Given the description of an element on the screen output the (x, y) to click on. 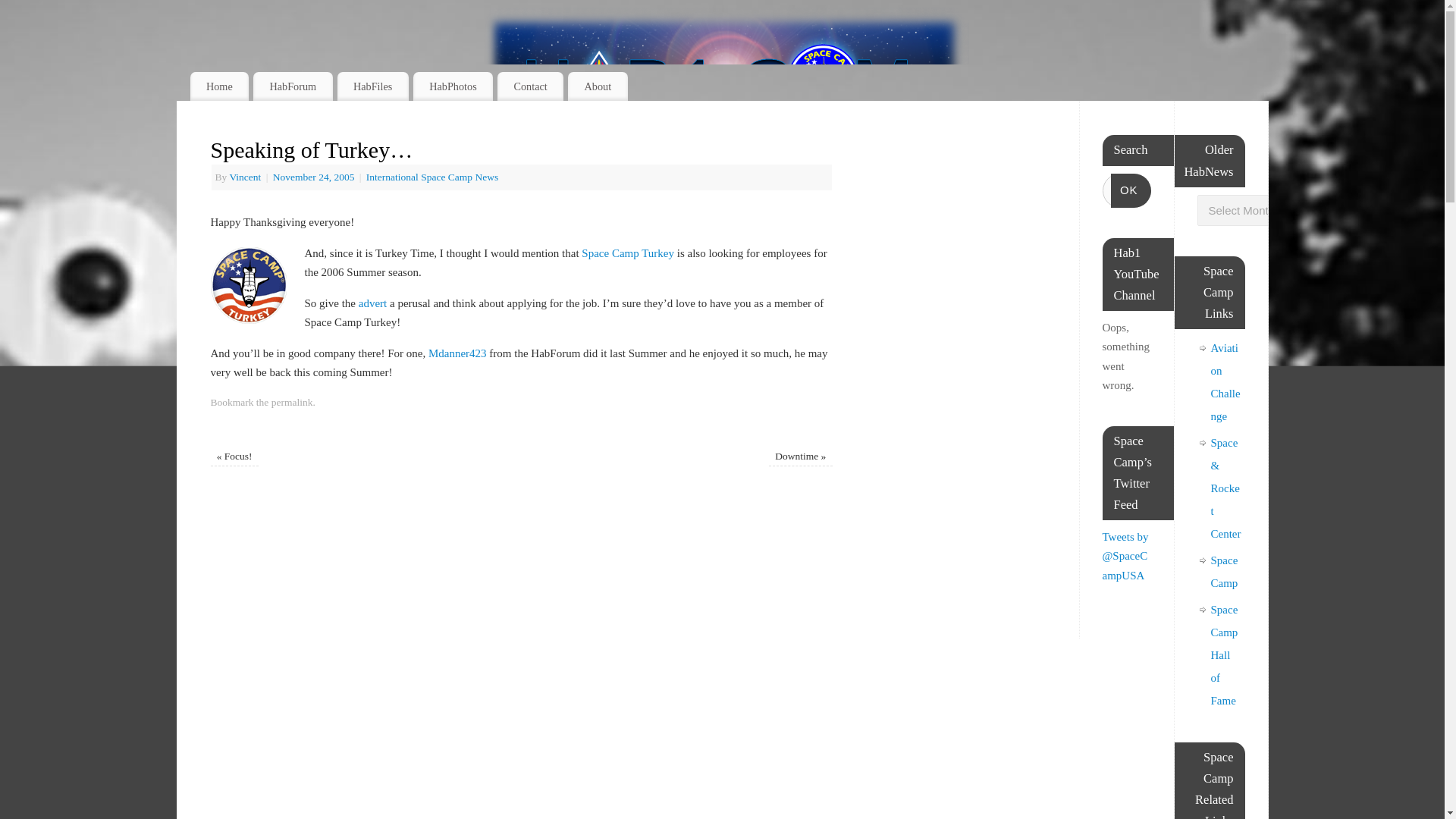
Space Camp Hall of Fame Homepage (1223, 654)
Space Camp Turkey (627, 253)
HabForum (293, 86)
Space Camp Hall of Fame (1223, 654)
Go to the HabForum (293, 86)
HabPhotos (453, 86)
Space Camp (1223, 571)
Mdanner423 (457, 353)
Aviation Challenge (1224, 382)
View all posts by Vincent (244, 176)
advert (372, 303)
November 24, 2005 (314, 176)
Vincent (244, 176)
About (597, 86)
Home (218, 86)
